Given the description of an element on the screen output the (x, y) to click on. 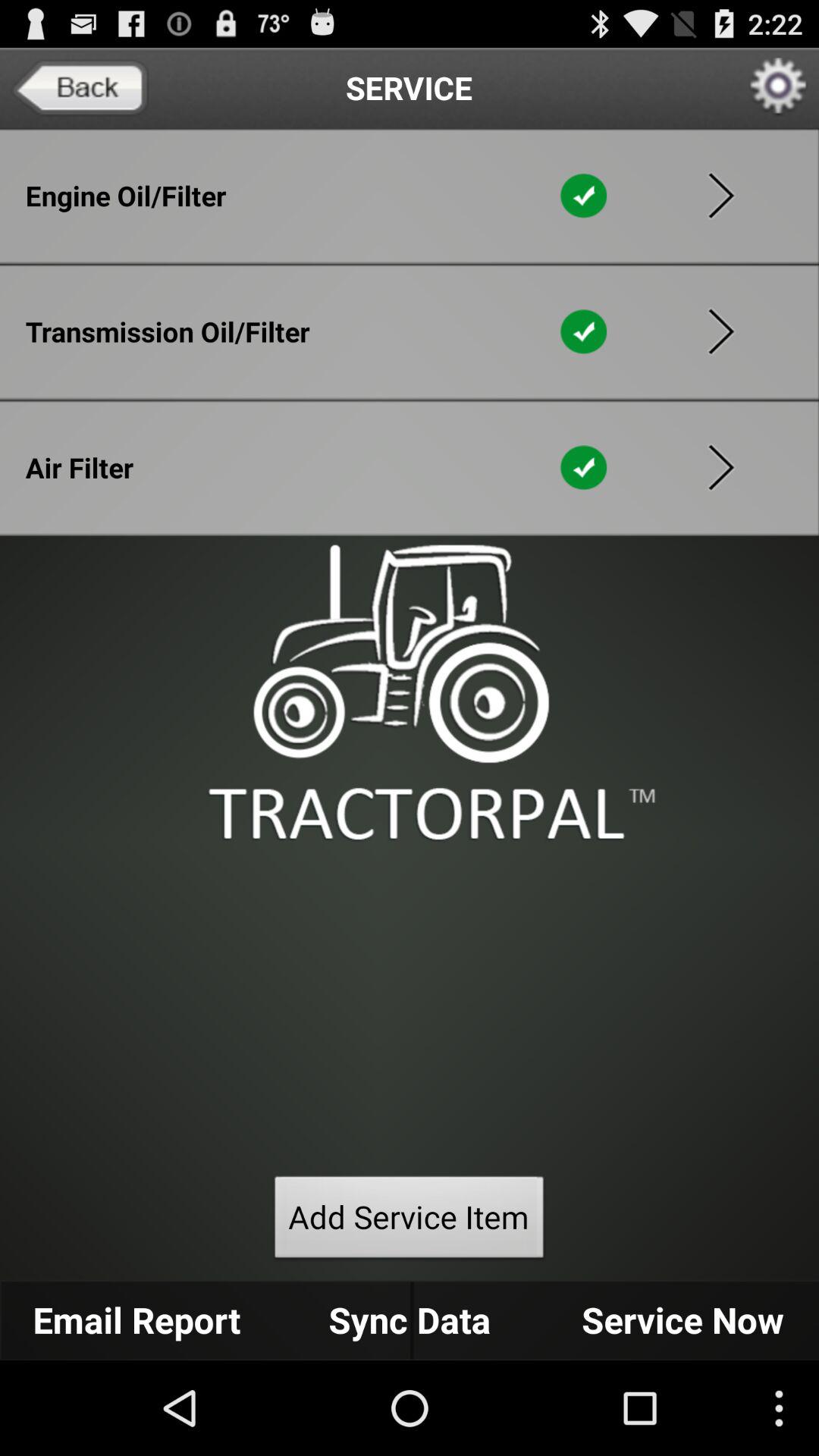
view engine oil/filter services (721, 195)
